Given the description of an element on the screen output the (x, y) to click on. 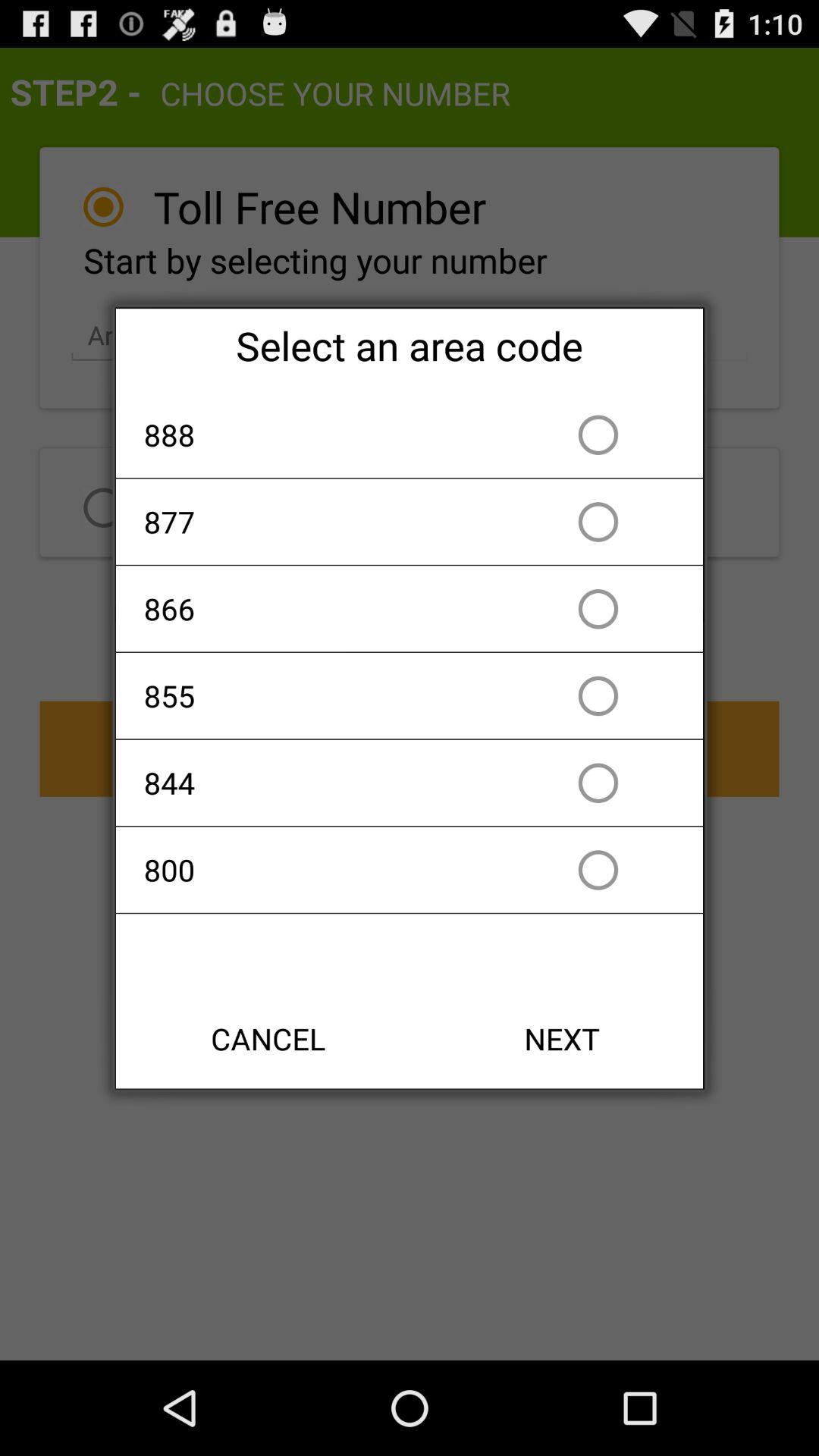
tap the 866 (322, 608)
